Given the description of an element on the screen output the (x, y) to click on. 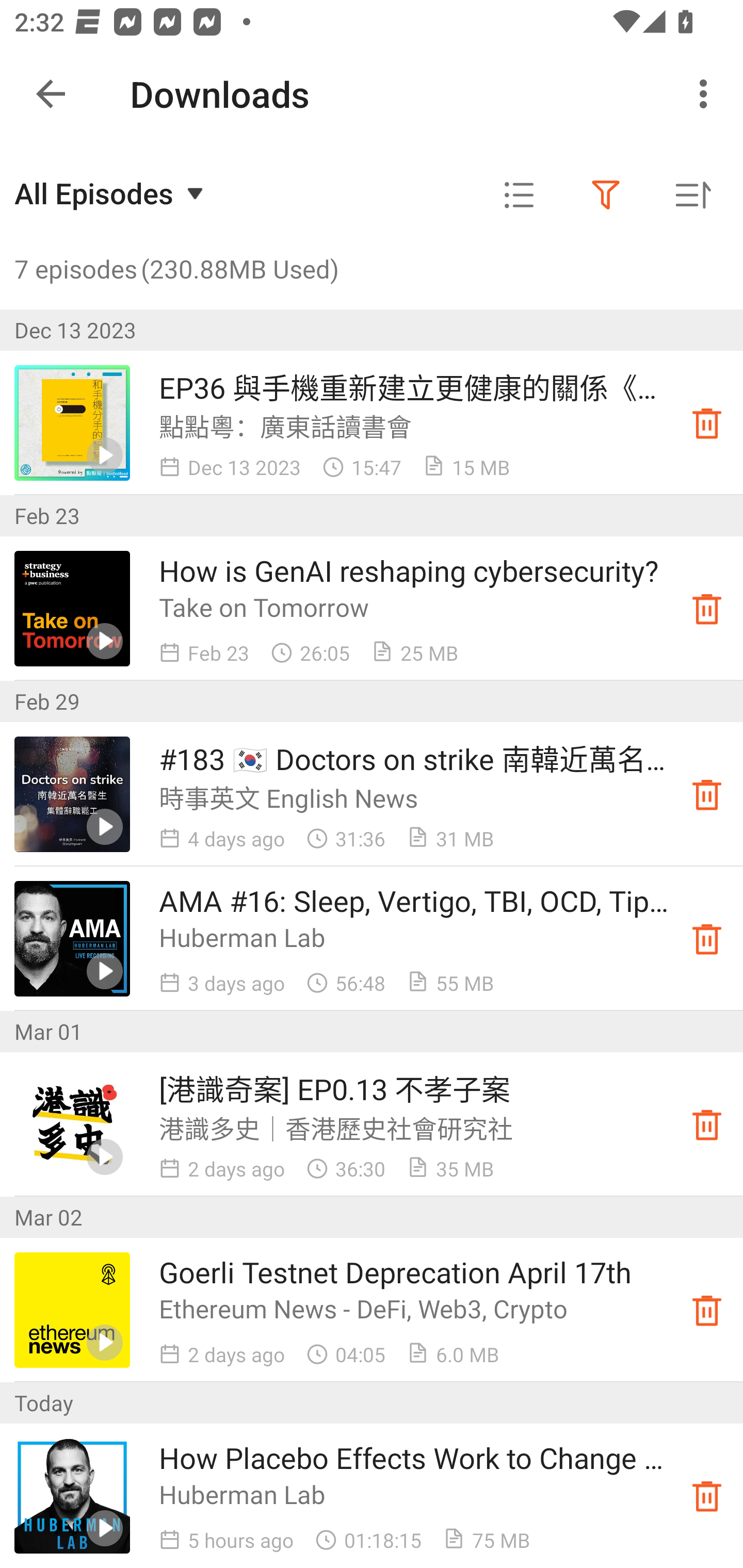
Navigate up (50, 93)
More options (706, 93)
All Episodes (111, 192)
 (518, 195)
 (605, 195)
 Sorted by oldest first (692, 195)
Downloaded (706, 423)
Downloaded (706, 608)
Downloaded (706, 794)
Downloaded (706, 938)
Downloaded (706, 1124)
Downloaded (706, 1309)
Downloaded (706, 1495)
